Given the description of an element on the screen output the (x, y) to click on. 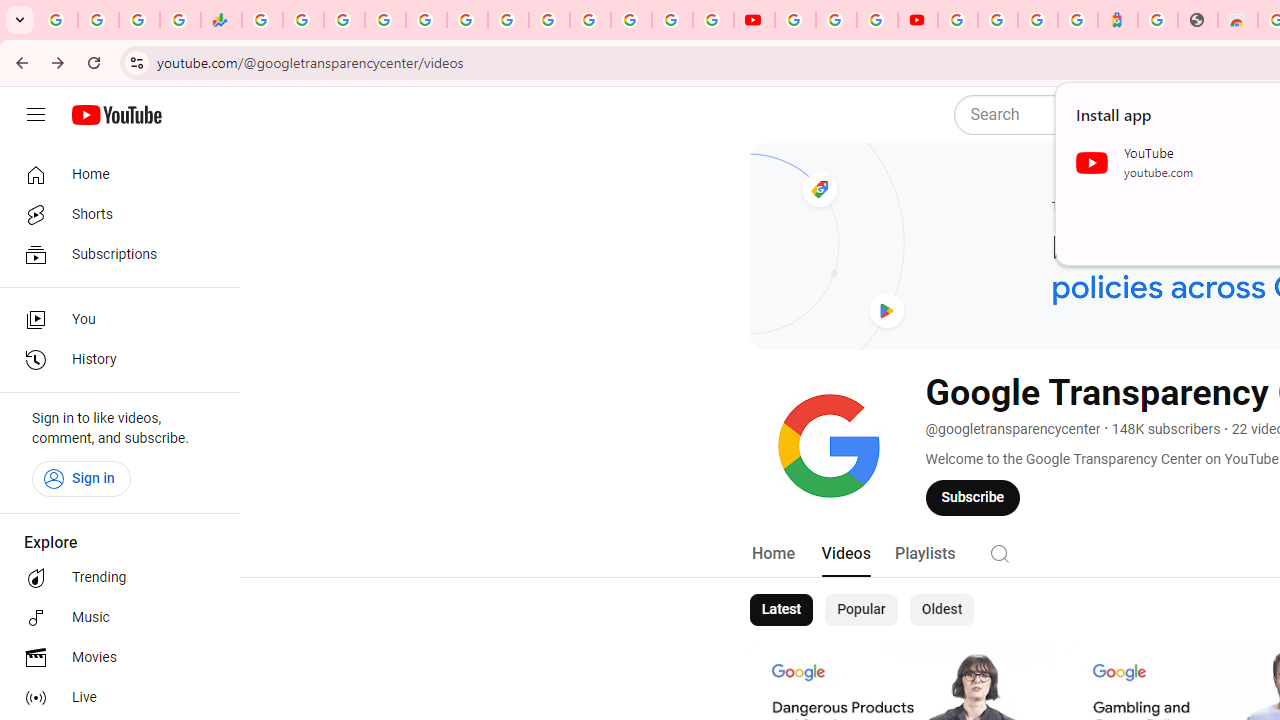
Guide (35, 115)
Shorts (113, 214)
Oldest (941, 609)
Sign in - Google Accounts (671, 20)
YouTube Home (116, 115)
Privacy Checkup (712, 20)
YouTube (795, 20)
Sign in - Google Accounts (589, 20)
Android TV Policies and Guidelines - Transparency Center (507, 20)
Sign in - Google Accounts (384, 20)
